Given the description of an element on the screen output the (x, y) to click on. 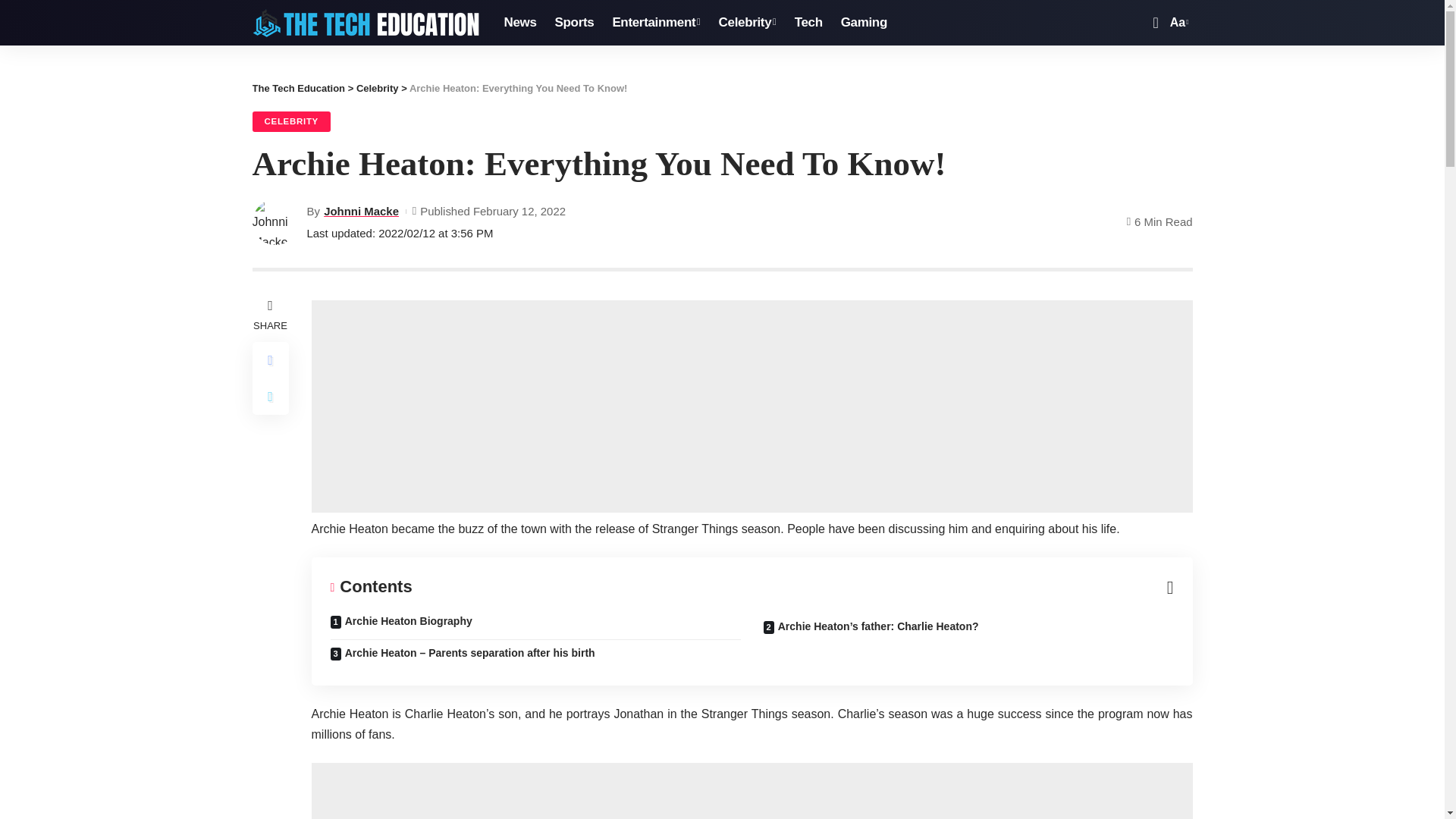
Gaming (863, 22)
Go to The Tech Education. (298, 88)
News (519, 22)
Sports (575, 22)
The Tech Education (365, 22)
Go to the Celebrity Category archives. (377, 88)
Entertainment (655, 22)
Tech (808, 22)
Aa (1177, 22)
Advertisement (585, 406)
Celebrity (748, 22)
Advertisement (585, 790)
